Given the description of an element on the screen output the (x, y) to click on. 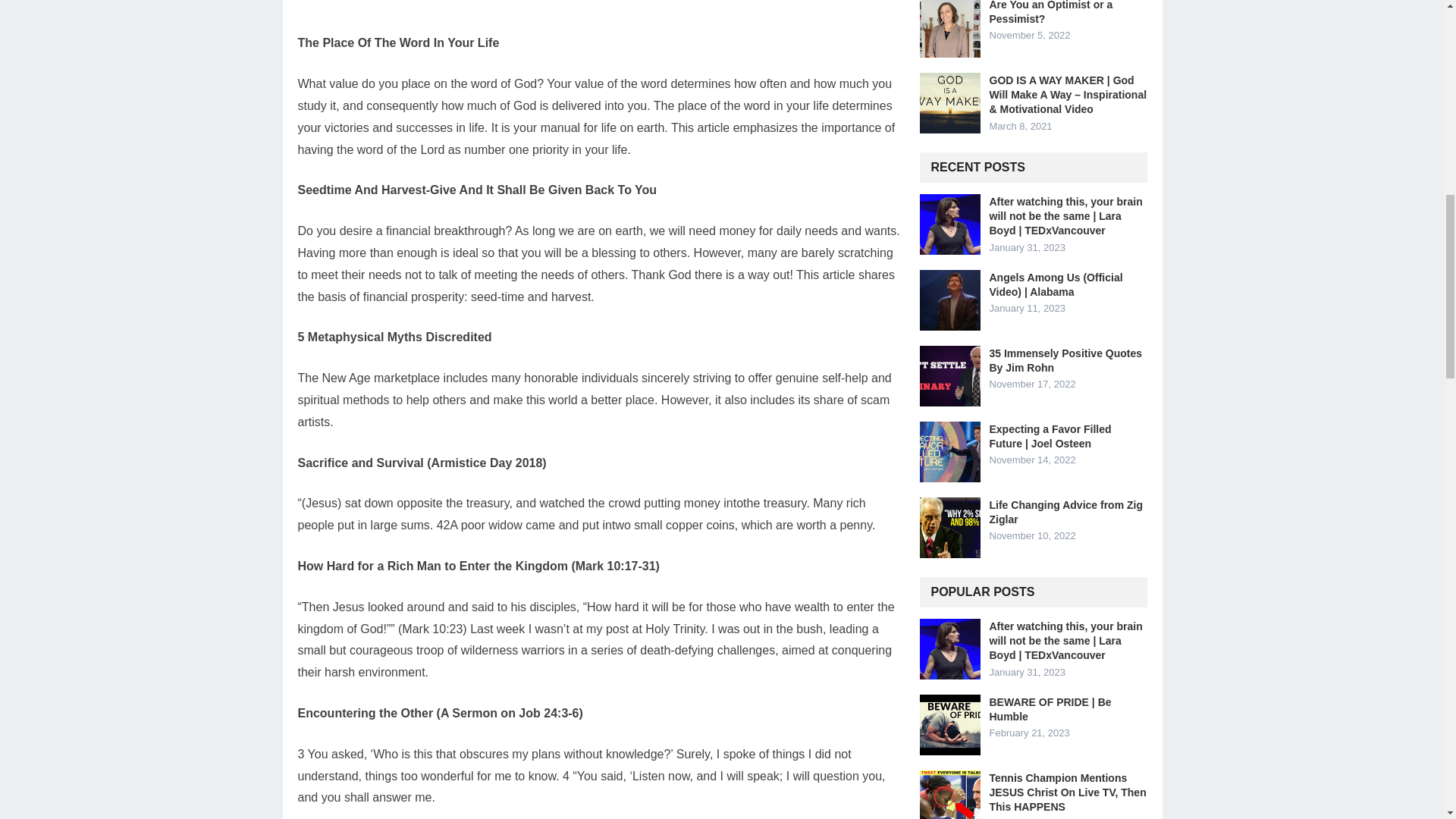
35 Immensely Positive Quotes By Jim Rohn 20 (948, 375)
Are You an Optimist or a Pessimist? 16 (948, 28)
